Given the description of an element on the screen output the (x, y) to click on. 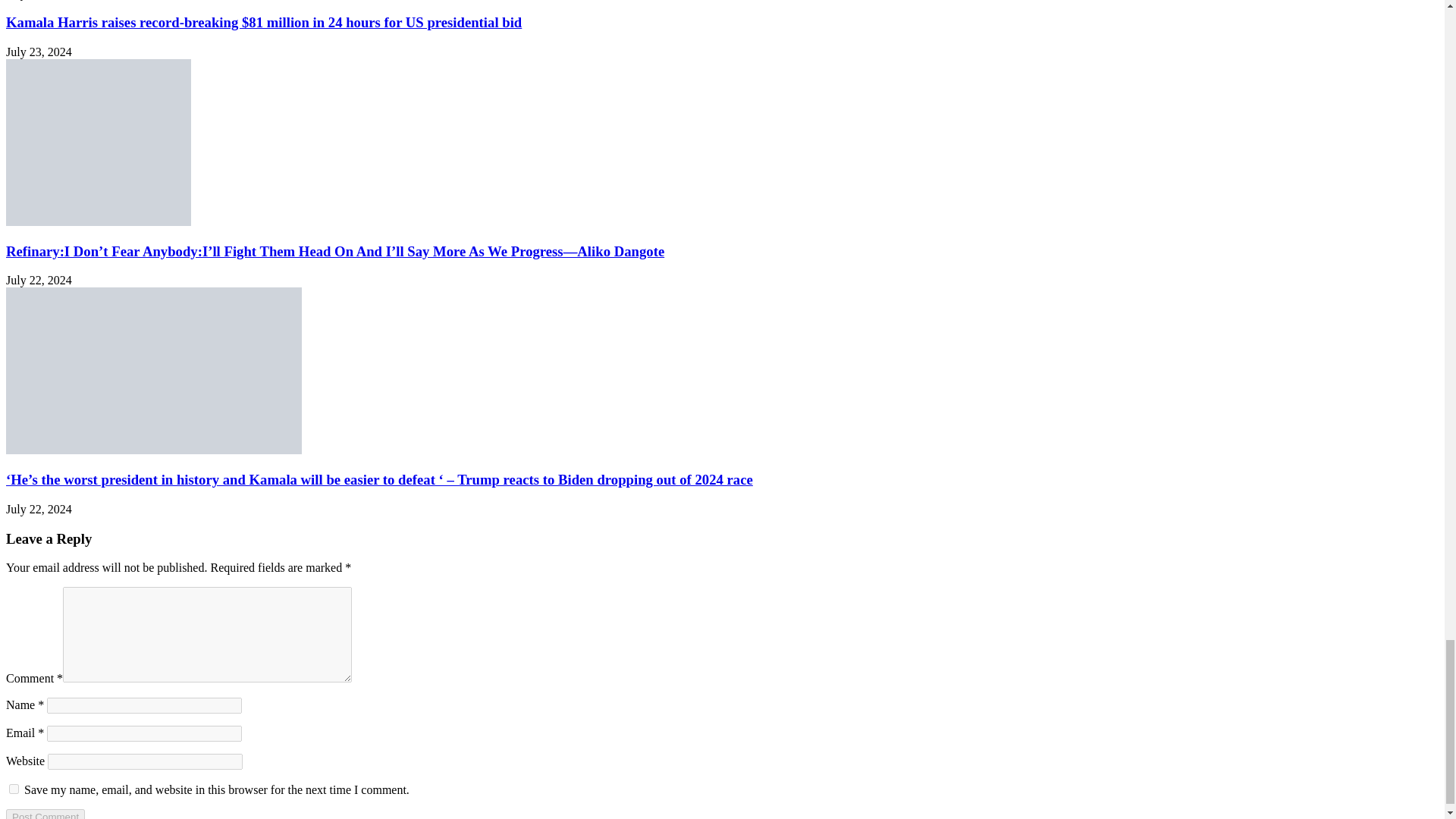
yes (13, 788)
